Given the description of an element on the screen output the (x, y) to click on. 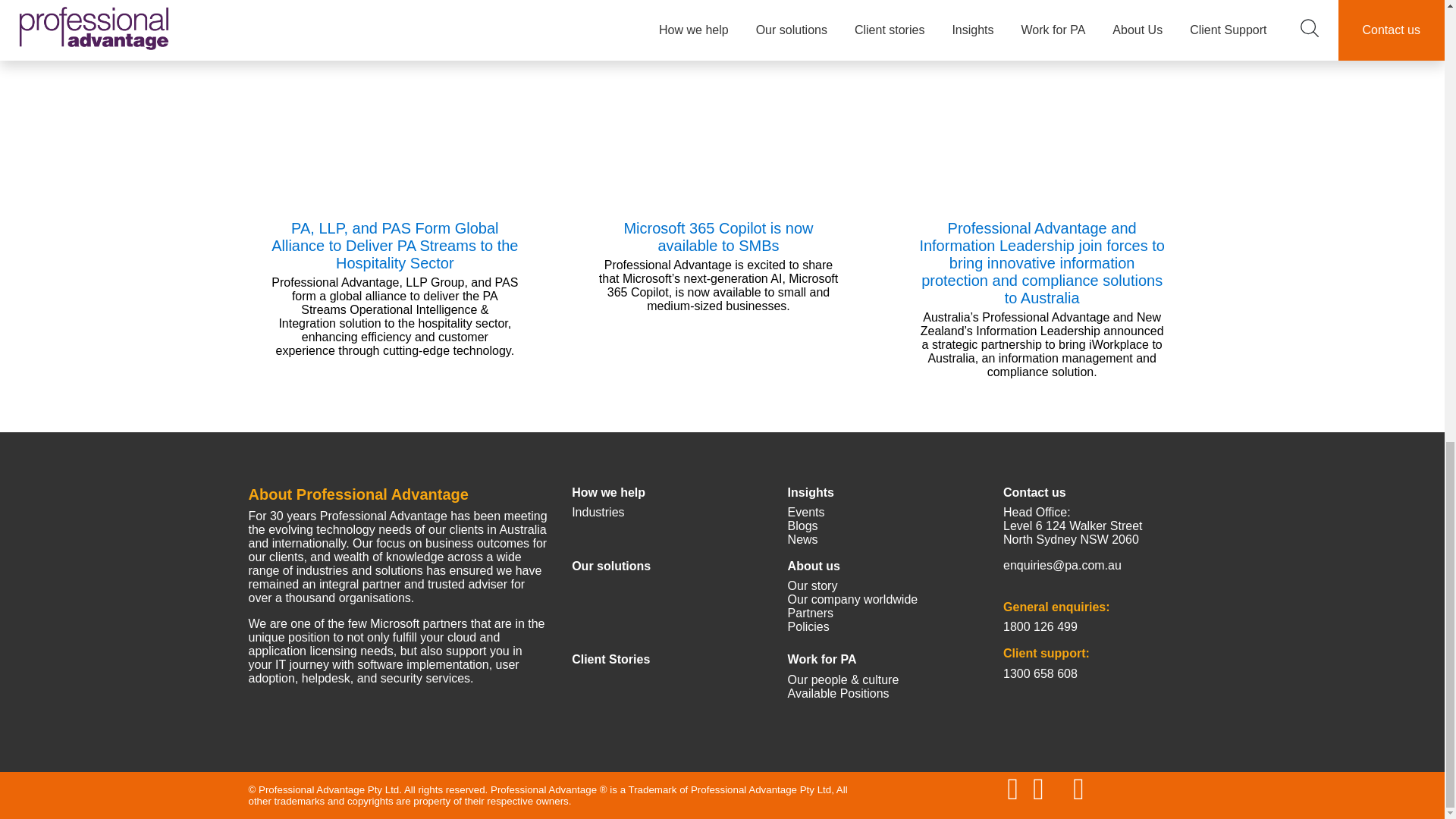
Professional Advantage on LinkedIn (1013, 788)
Professional Advantage on YouTube (1078, 788)
Professional Advantage on Facebook (1037, 788)
